Given the description of an element on the screen output the (x, y) to click on. 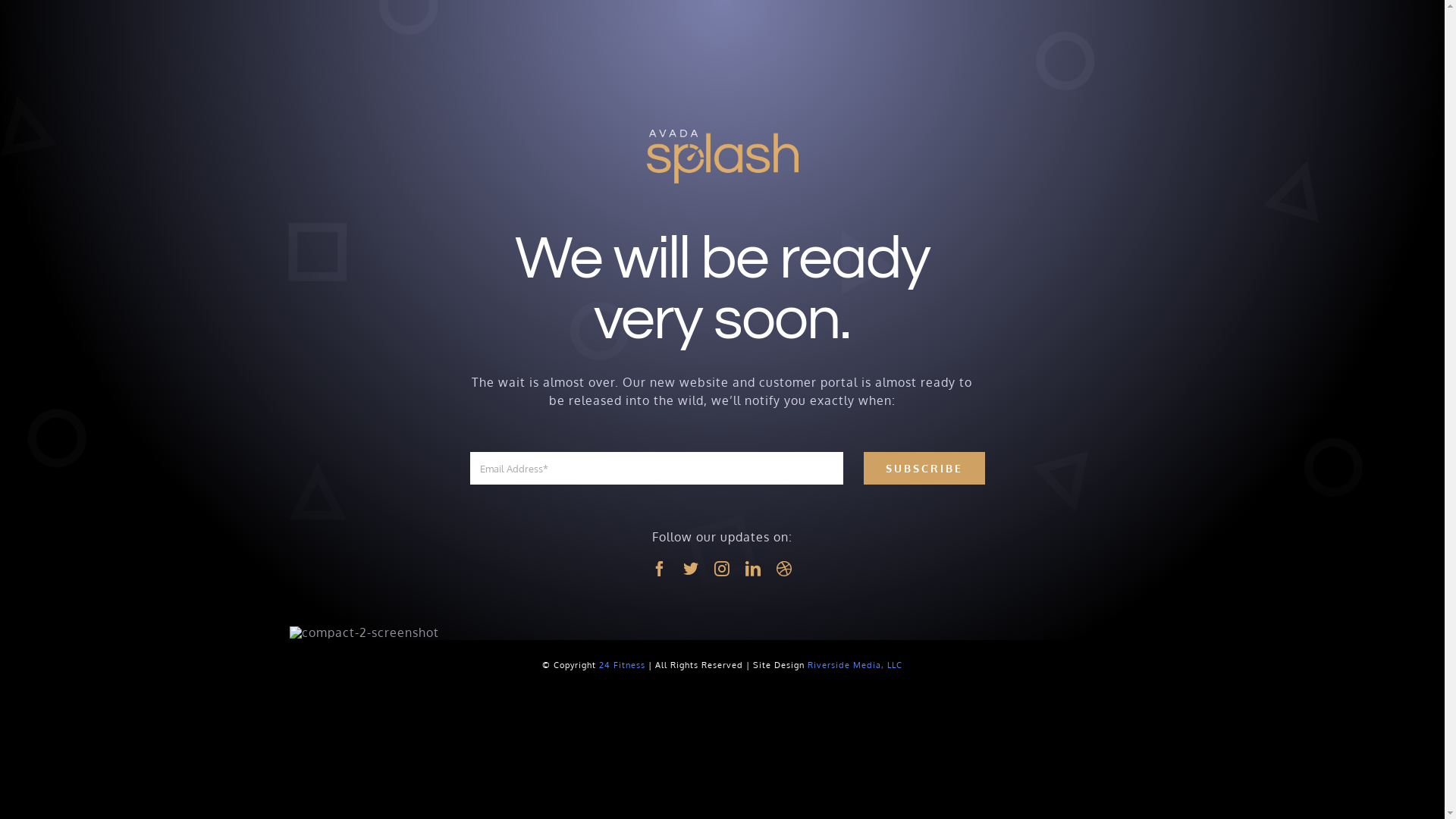
Riverside Media, LLC Element type: text (854, 664)
Avada Splash Element type: hover (721, 156)
SUBSCRIBE Element type: text (924, 467)
24 Fitness Element type: text (622, 664)
